Given the description of an element on the screen output the (x, y) to click on. 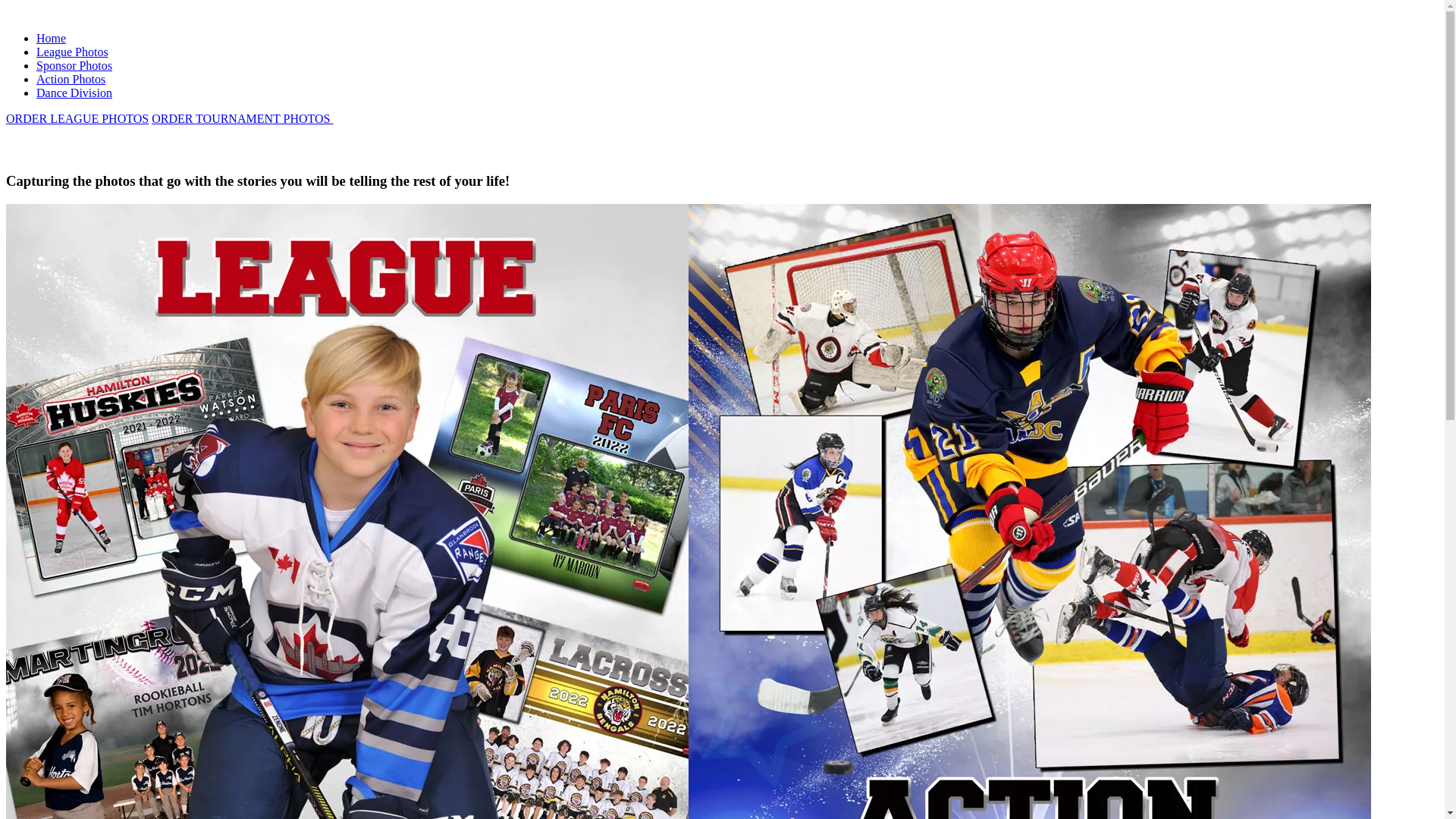
League Photos Element type: text (72, 51)
Dance Division Element type: text (74, 92)
ORDER LEAGUE PHOTOS Element type: text (77, 118)
ORDER TOURNAMENT PHOTOS  Element type: text (241, 118)
Action Photos Element type: text (70, 78)
Sponsor Photos Element type: text (74, 65)
Home Element type: text (50, 37)
